Given the description of an element on the screen output the (x, y) to click on. 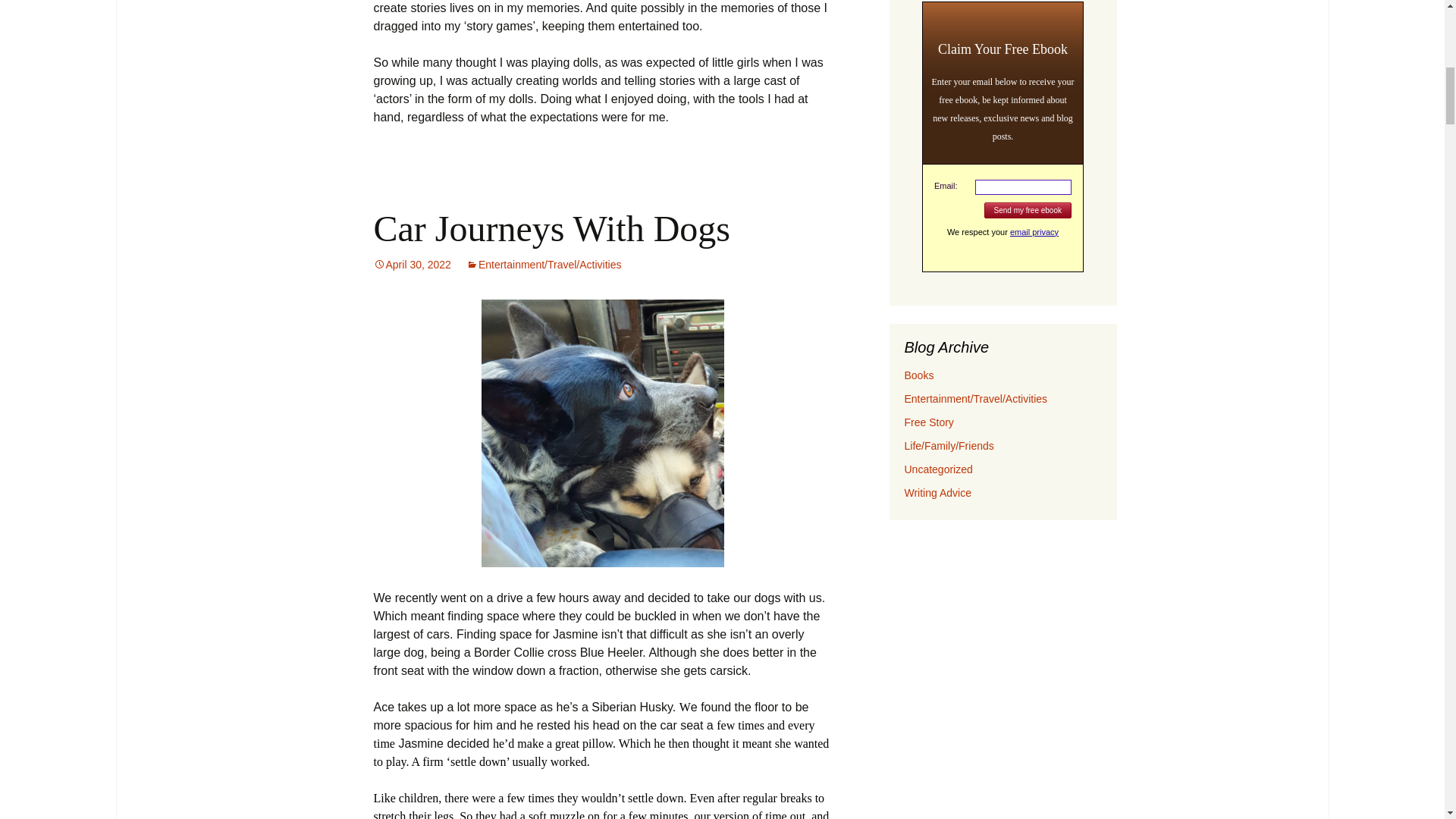
Send my free ebook (1027, 210)
Permalink to Car Journeys With Dogs (410, 264)
